Given the description of an element on the screen output the (x, y) to click on. 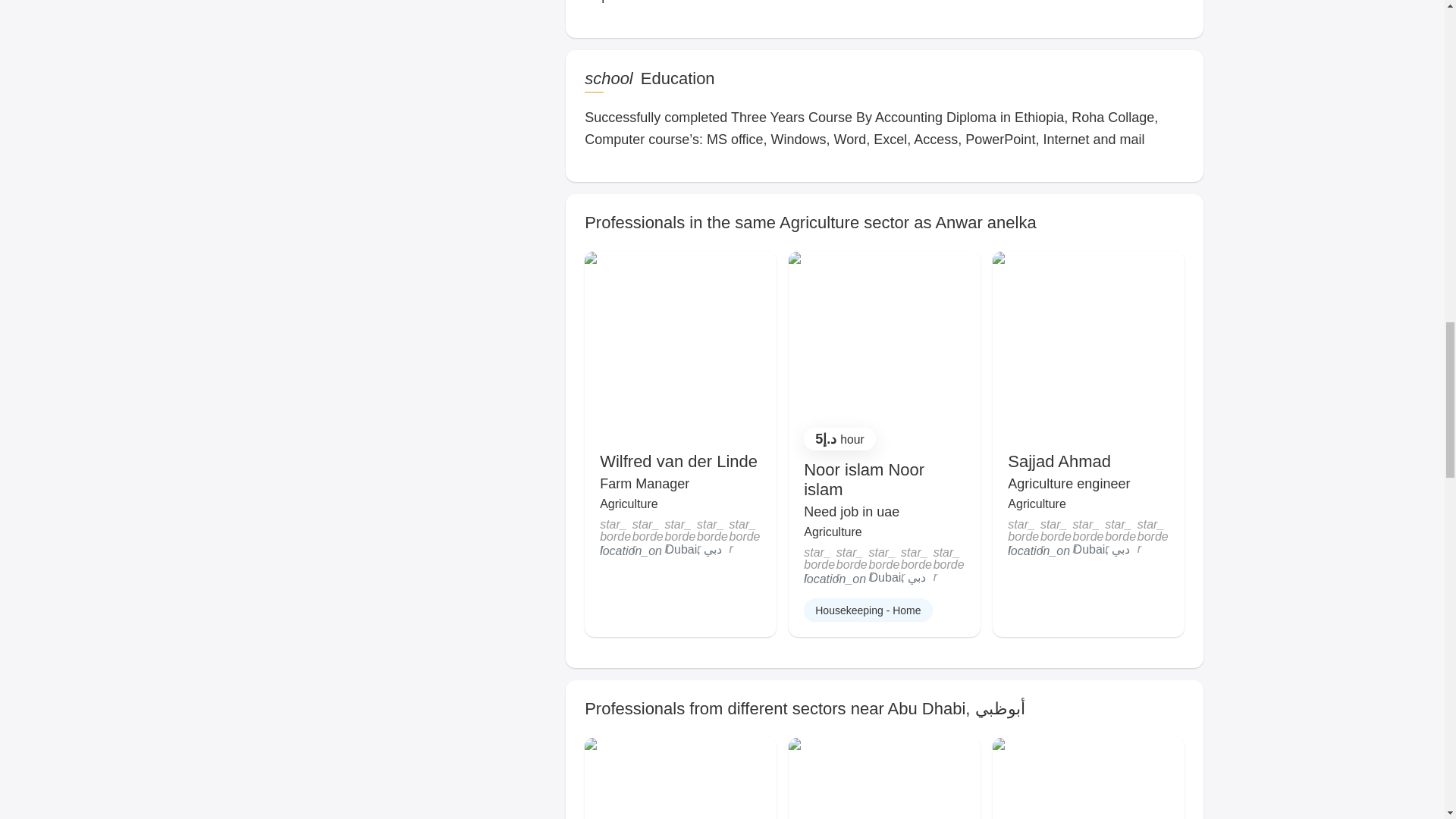
Wilfred van der Linde (678, 461)
Noor islam Noor islam (863, 479)
Sajjad Ahmad (1058, 461)
Noor islam Noor islam (863, 479)
Wilfred van der Linde (678, 461)
Sajjad Ahmad (1058, 461)
